Given the description of an element on the screen output the (x, y) to click on. 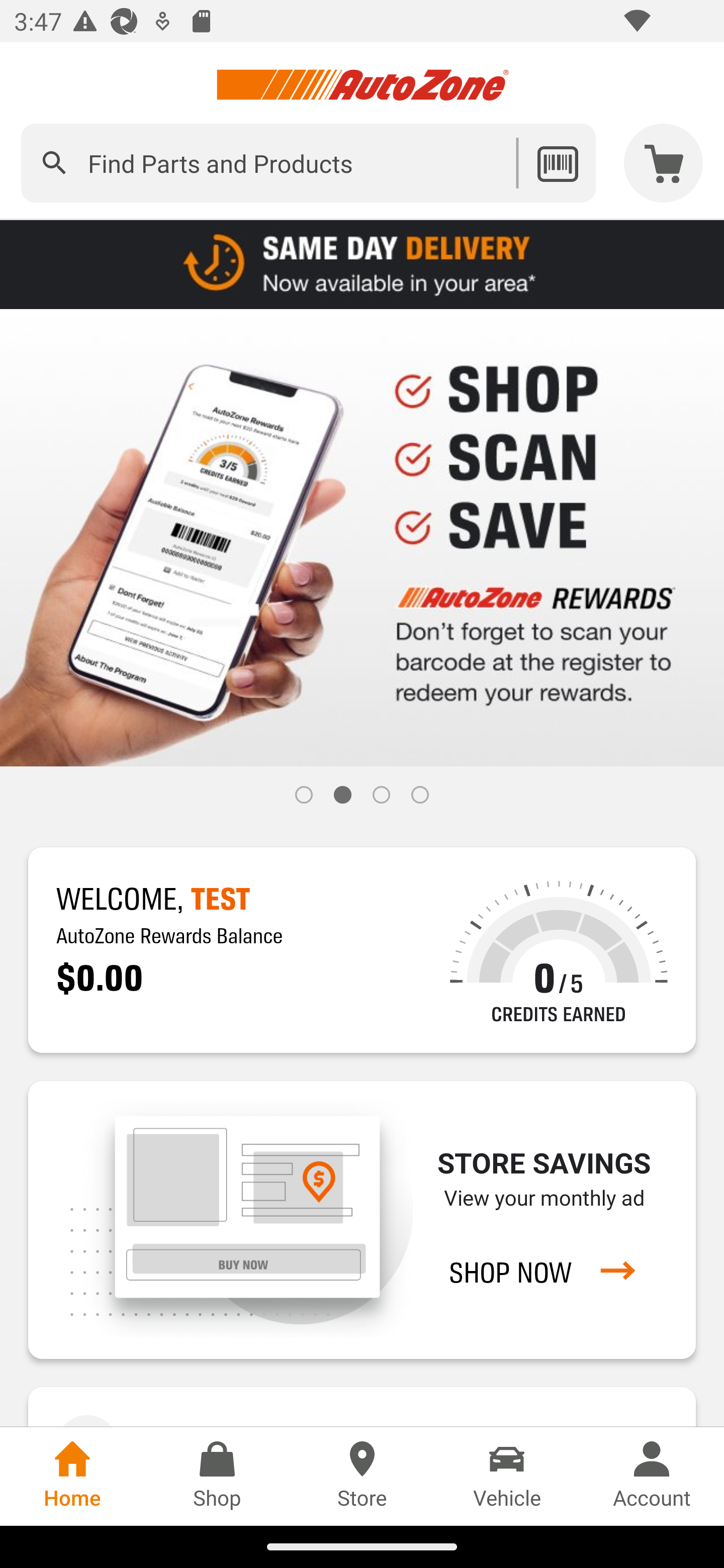
 scan-product-to-search  (557, 162)
 (54, 163)
Cart, no items  (663, 162)
Same Day Delivery - now available in your area* (362, 262)
Home (72, 1475)
Shop (216, 1475)
Store (361, 1475)
Vehicle (506, 1475)
Account (651, 1475)
